Given the description of an element on the screen output the (x, y) to click on. 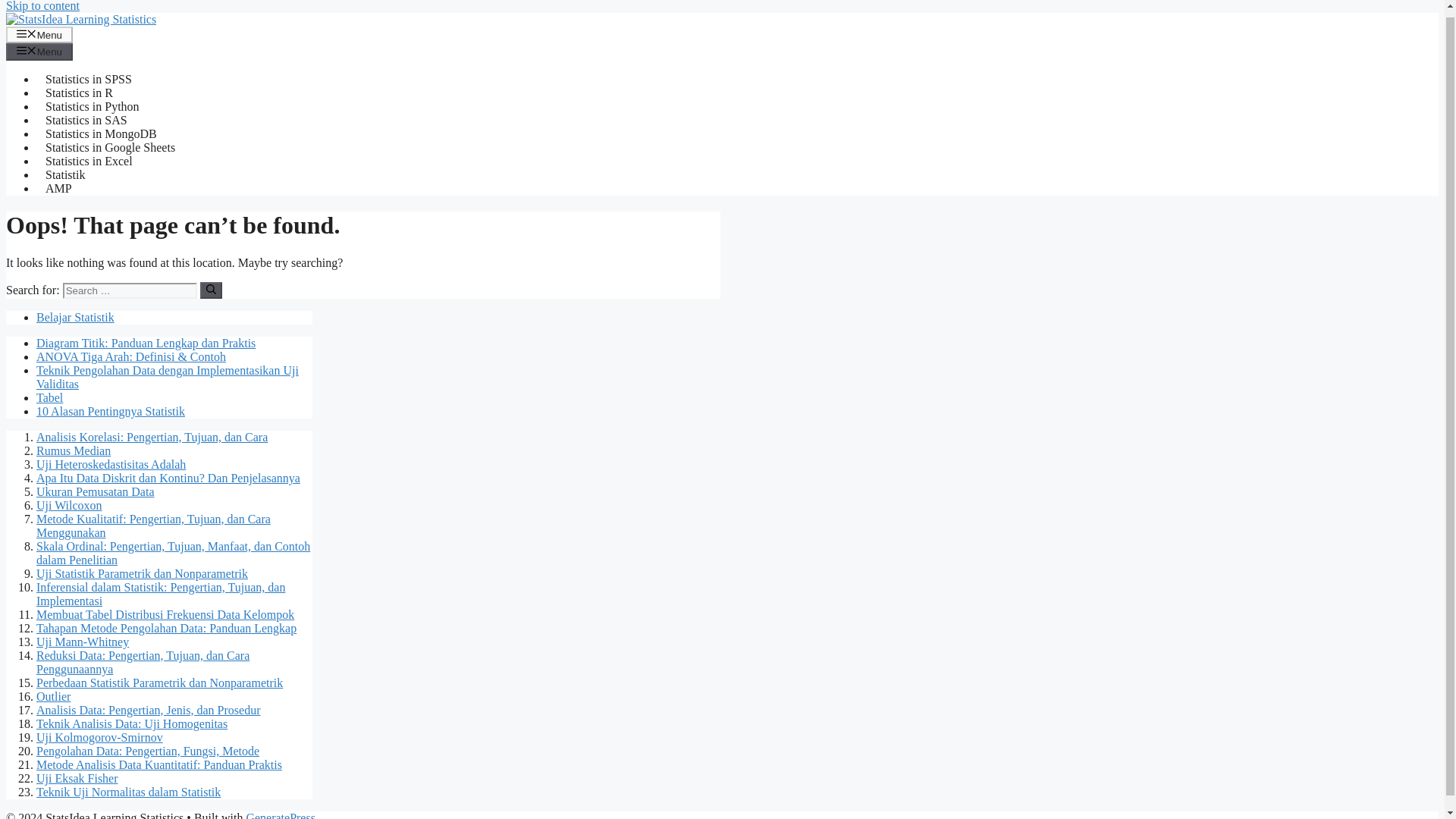
Menu (38, 34)
Rumus Median (73, 450)
Uji Heteroskedastisitas Adalah (111, 463)
Statistics in SAS (86, 119)
Statistics in Excel (88, 160)
Statistics in R (79, 92)
Teknik Analisis Data: Uji Homogenitas (131, 723)
Uji Wilcoxon (68, 504)
Belajar Statistik (75, 317)
Menu (38, 51)
Outlier (52, 696)
Analisis Data: Pengertian, Jenis, dan Prosedur (148, 709)
Membuat Tabel Distribusi Frekuensi Data Kelompok (165, 614)
Apa Itu Data Diskrit dan Kontinu? Dan Penjelasannya (167, 477)
